Given the description of an element on the screen output the (x, y) to click on. 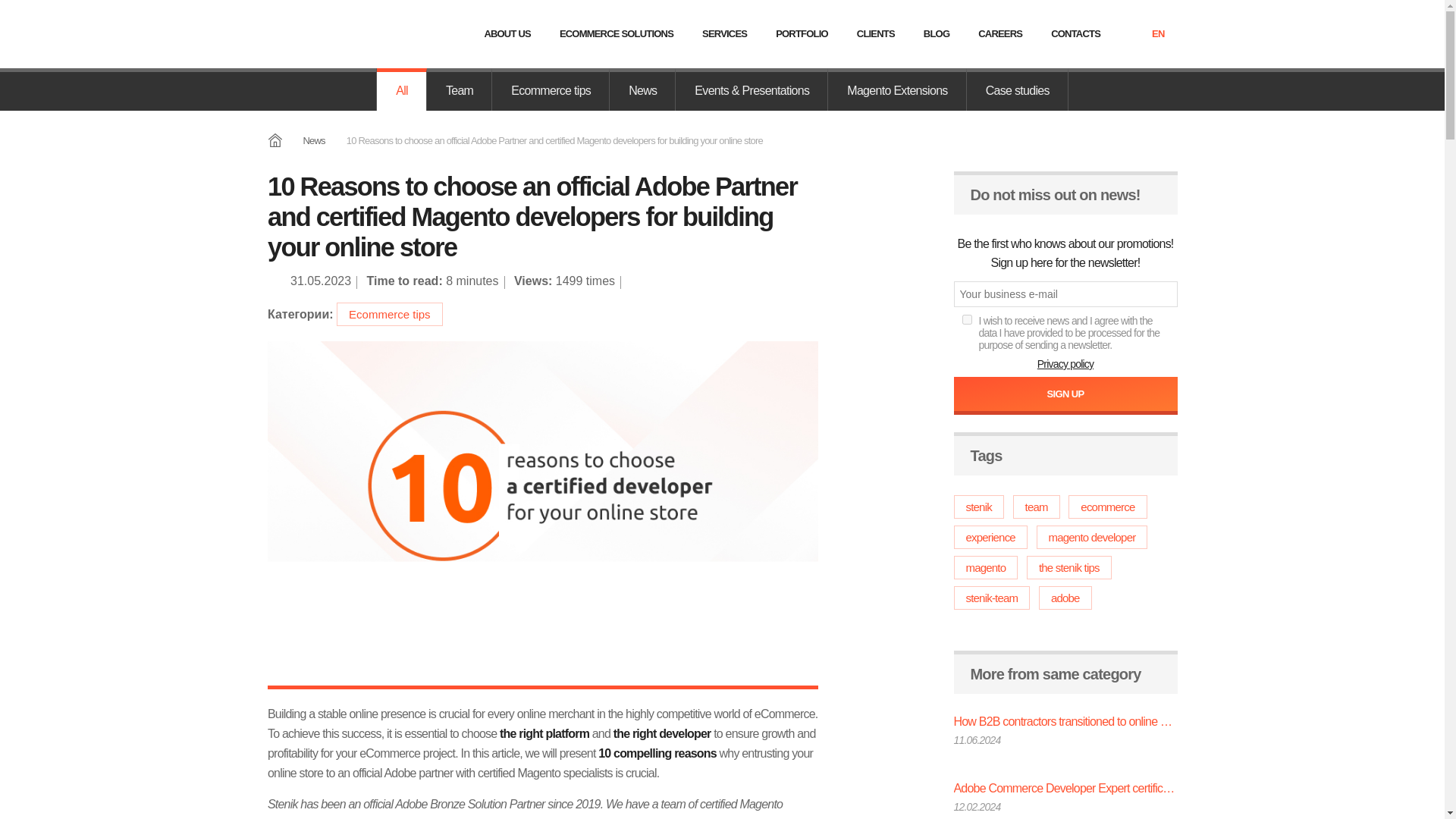
EN (1157, 34)
on (967, 319)
ABOUT US (506, 33)
